Given the description of an element on the screen output the (x, y) to click on. 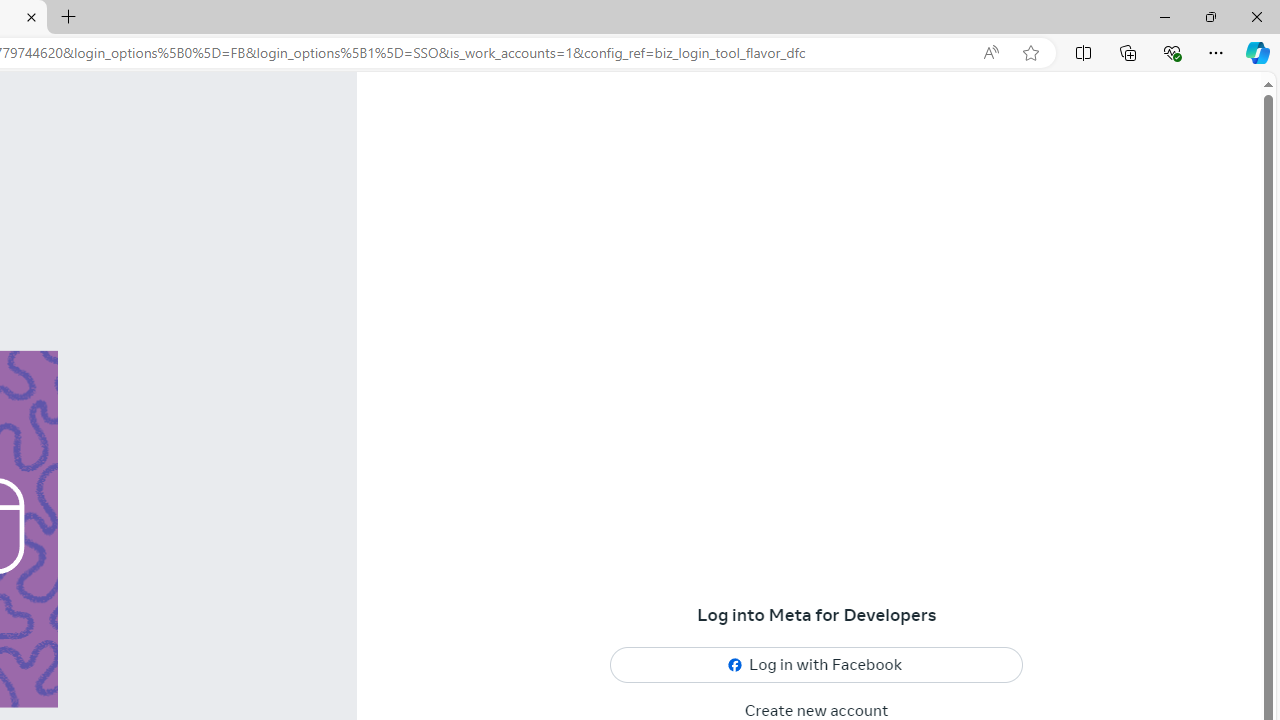
Log in with Facebook (817, 665)
